Given the description of an element on the screen output the (x, y) to click on. 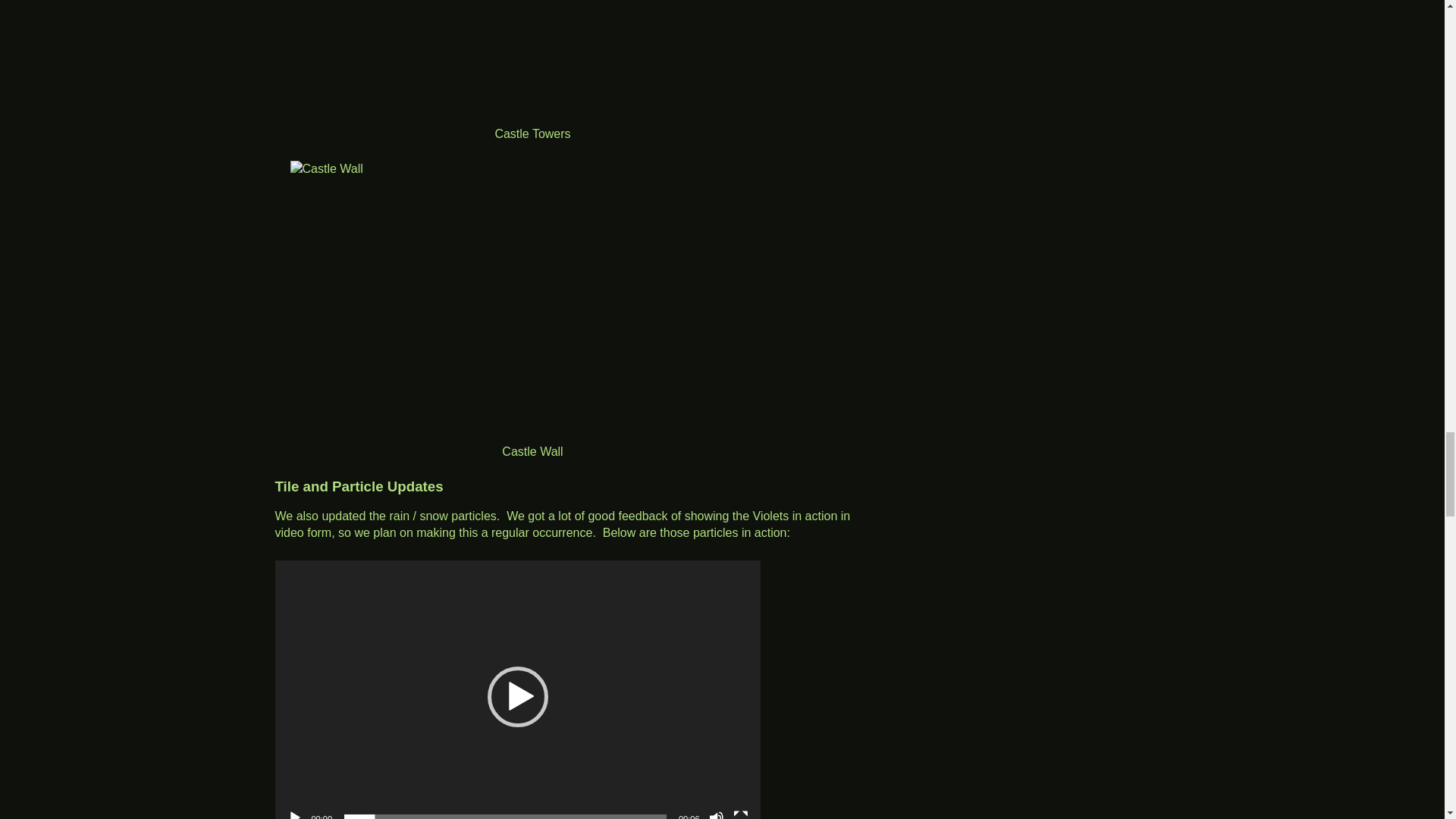
Mute (715, 814)
Play (293, 814)
Fullscreen (740, 814)
